Given the description of an element on the screen output the (x, y) to click on. 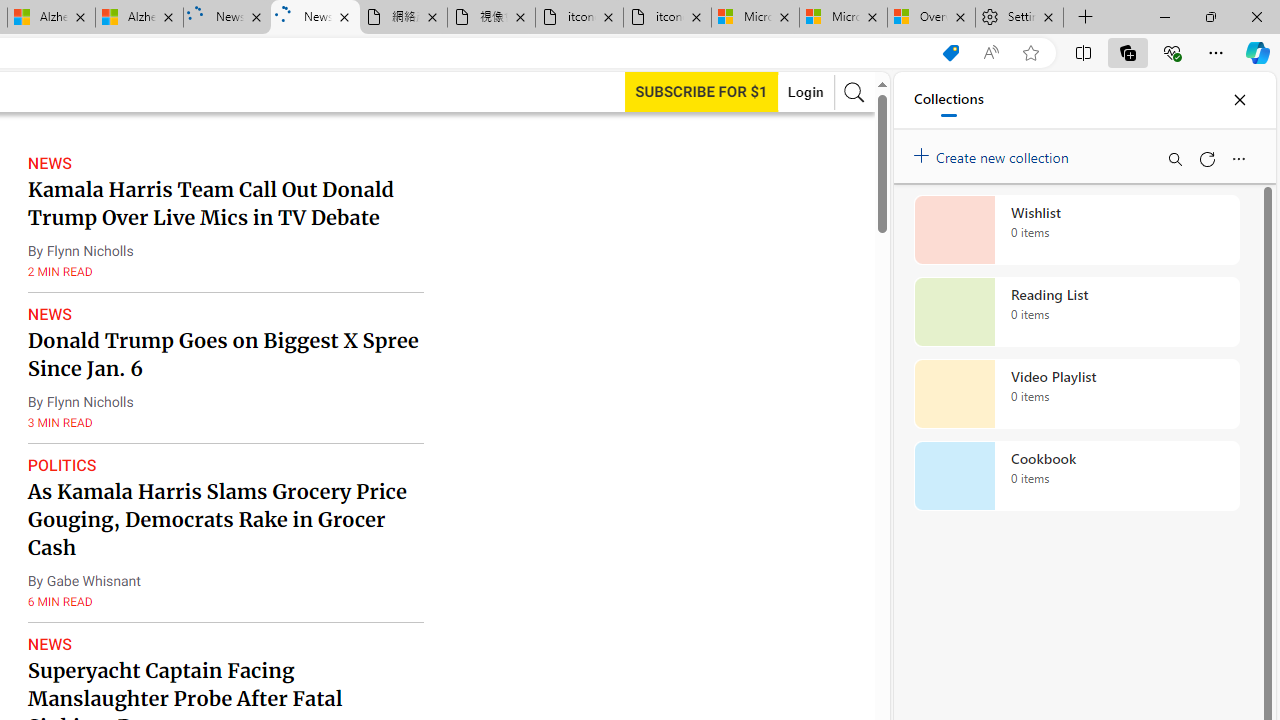
By Flynn Nicholls (80, 402)
Reading List collection, 0 items (1076, 312)
itconcepthk.com/projector_solutions.mp4 (666, 17)
